Given the description of an element on the screen output the (x, y) to click on. 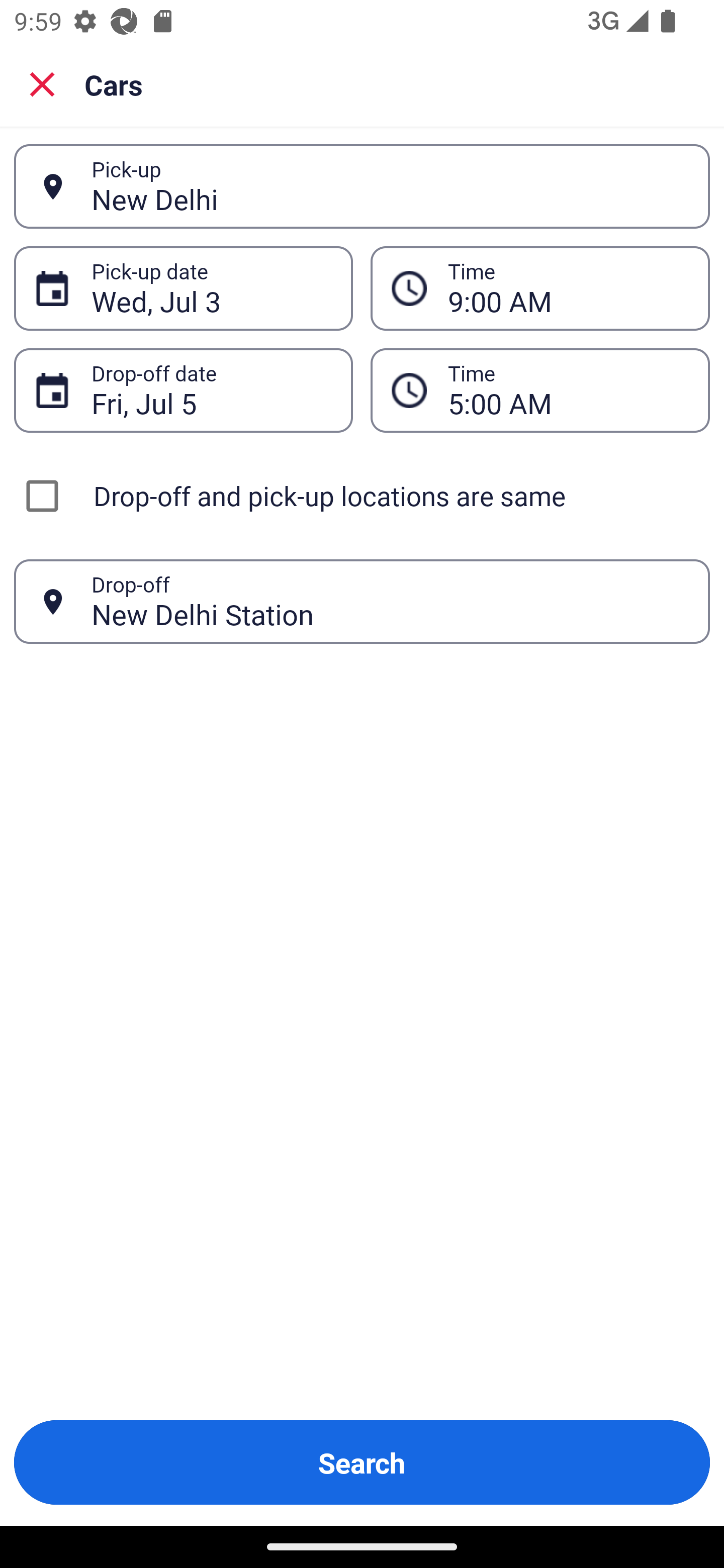
Close search screen (41, 83)
New Delhi Pick-up (361, 186)
New Delhi (389, 186)
Wed, Jul 3 Pick-up date (183, 288)
9:00 AM (540, 288)
Wed, Jul 3 (211, 288)
9:00 AM (568, 288)
Fri, Jul 5 Drop-off date (183, 390)
5:00 AM (540, 390)
Fri, Jul 5 (211, 390)
5:00 AM (568, 390)
Drop-off and pick-up locations are same (361, 495)
New Delhi Station Drop-off (361, 601)
New Delhi Station (389, 601)
Search Button Search (361, 1462)
